Given the description of an element on the screen output the (x, y) to click on. 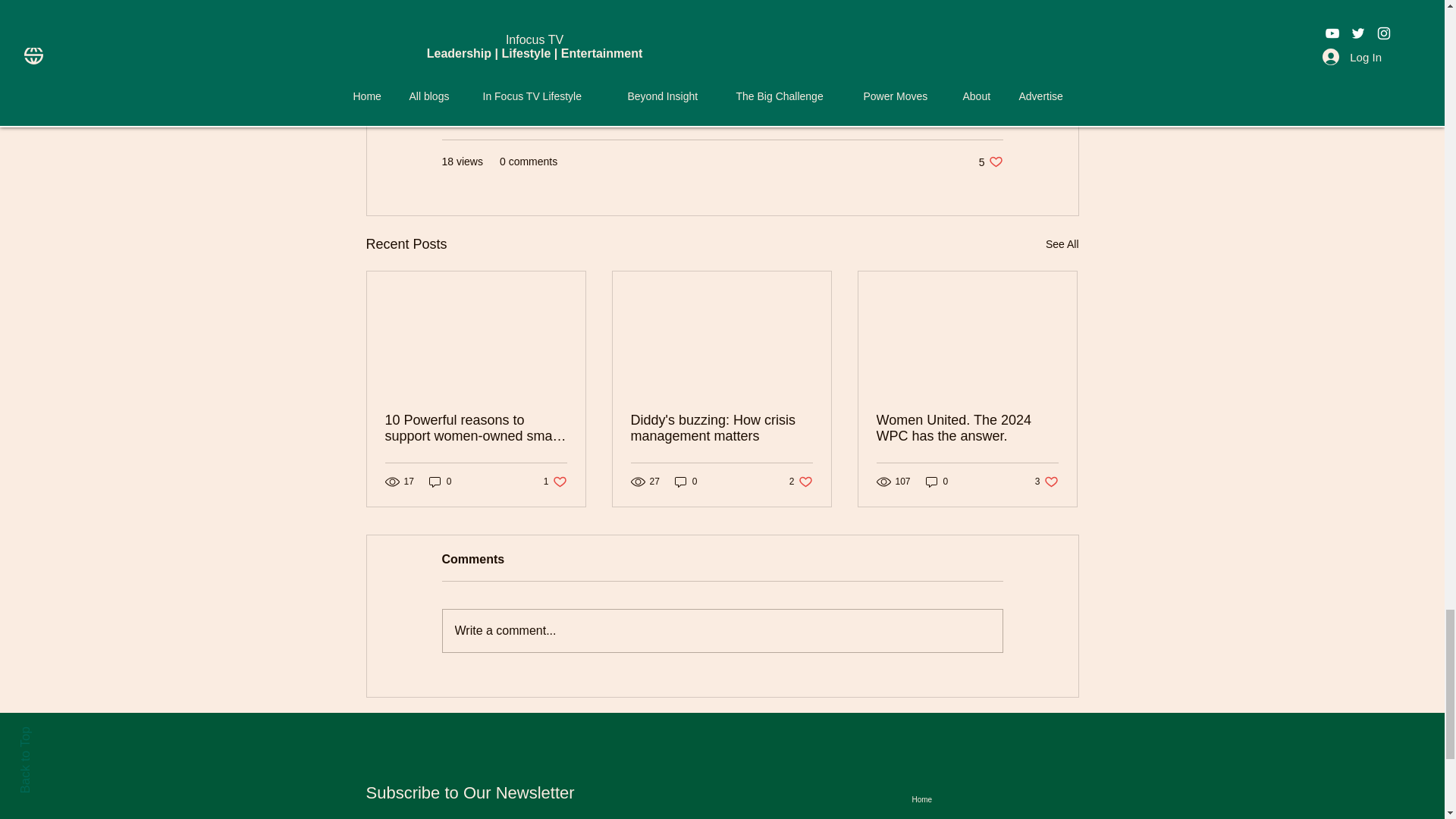
voting (842, 58)
Juneteenth (616, 58)
civil rights (777, 58)
elections (544, 58)
education (473, 58)
Black history (699, 58)
